Given the description of an element on the screen output the (x, y) to click on. 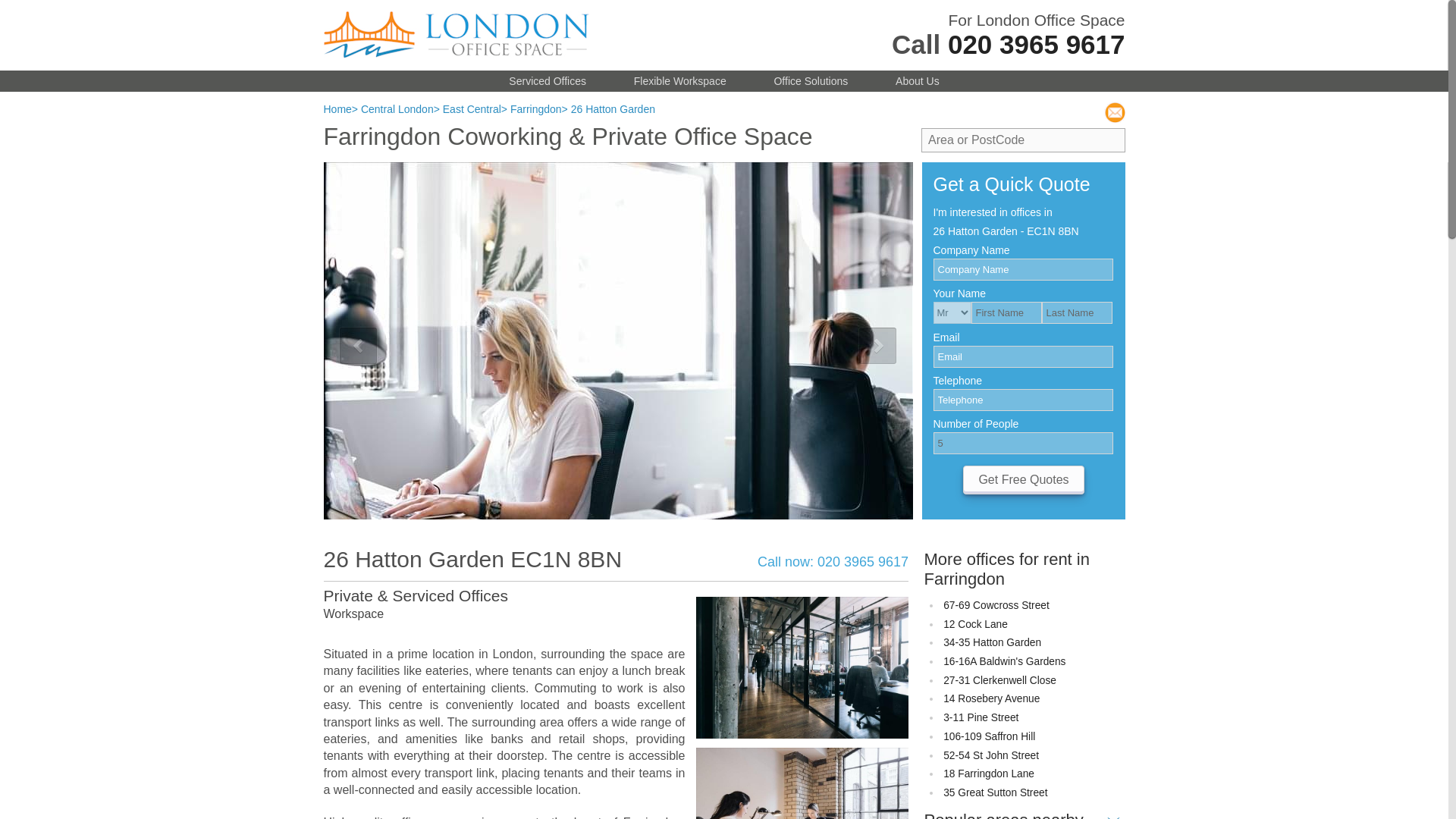
About Us (917, 80)
Flexible Workspace (679, 80)
27-31 Clerkenwell Close (1000, 680)
18 Farringdon Lane (988, 773)
52-54 St John Street (991, 754)
5 (1022, 443)
67-69 Cowcross Street (996, 604)
35 Great Sutton Street (994, 792)
Home (336, 109)
106-109 Saffron Hill (989, 736)
Central London (397, 109)
East Central (471, 109)
020 3965 9617 (1036, 43)
12 Cock Lane (975, 624)
Serviced Offices (547, 80)
